Given the description of an element on the screen output the (x, y) to click on. 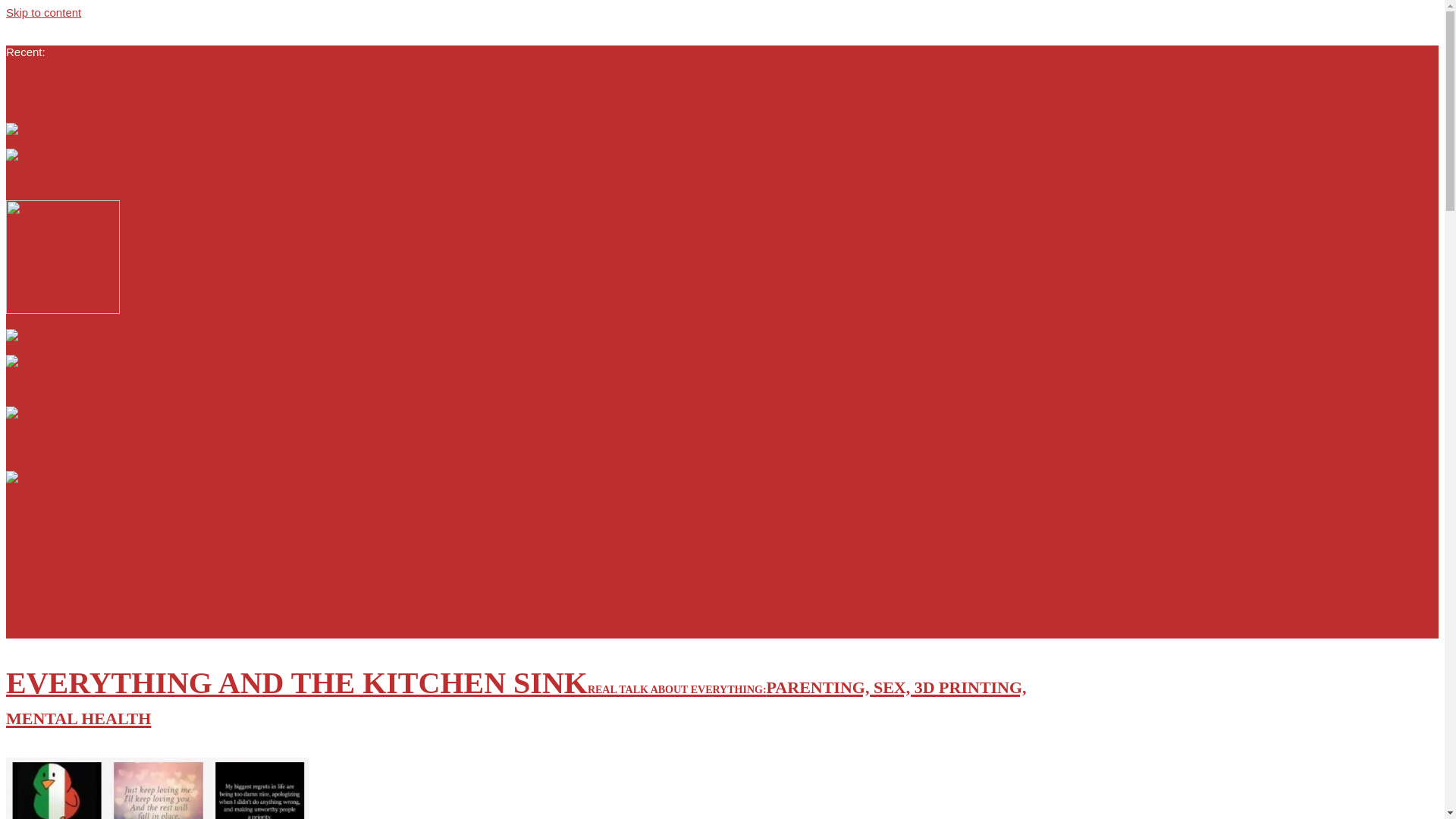
Just purchased the new Samsung Galaxy 23 Ultra (132, 399)
First night without you (60, 180)
The unspoken topic lately (70, 541)
A little dysfunction here, a little dysfunction there (126, 451)
My son moved out (52, 386)
Spring Hill Tennessee is coming (86, 348)
After everything gets crazy (73, 631)
What you find when snooping (80, 605)
Heartbreak (33, 167)
Are you alone in a crowded room? (92, 373)
COVID (23, 463)
Truth in which we live (60, 554)
Seabreeze amusement park visit 2022 was exciting (134, 580)
Skip to content (43, 11)
Is the world crumbling around me (89, 322)
